Given the description of an element on the screen output the (x, y) to click on. 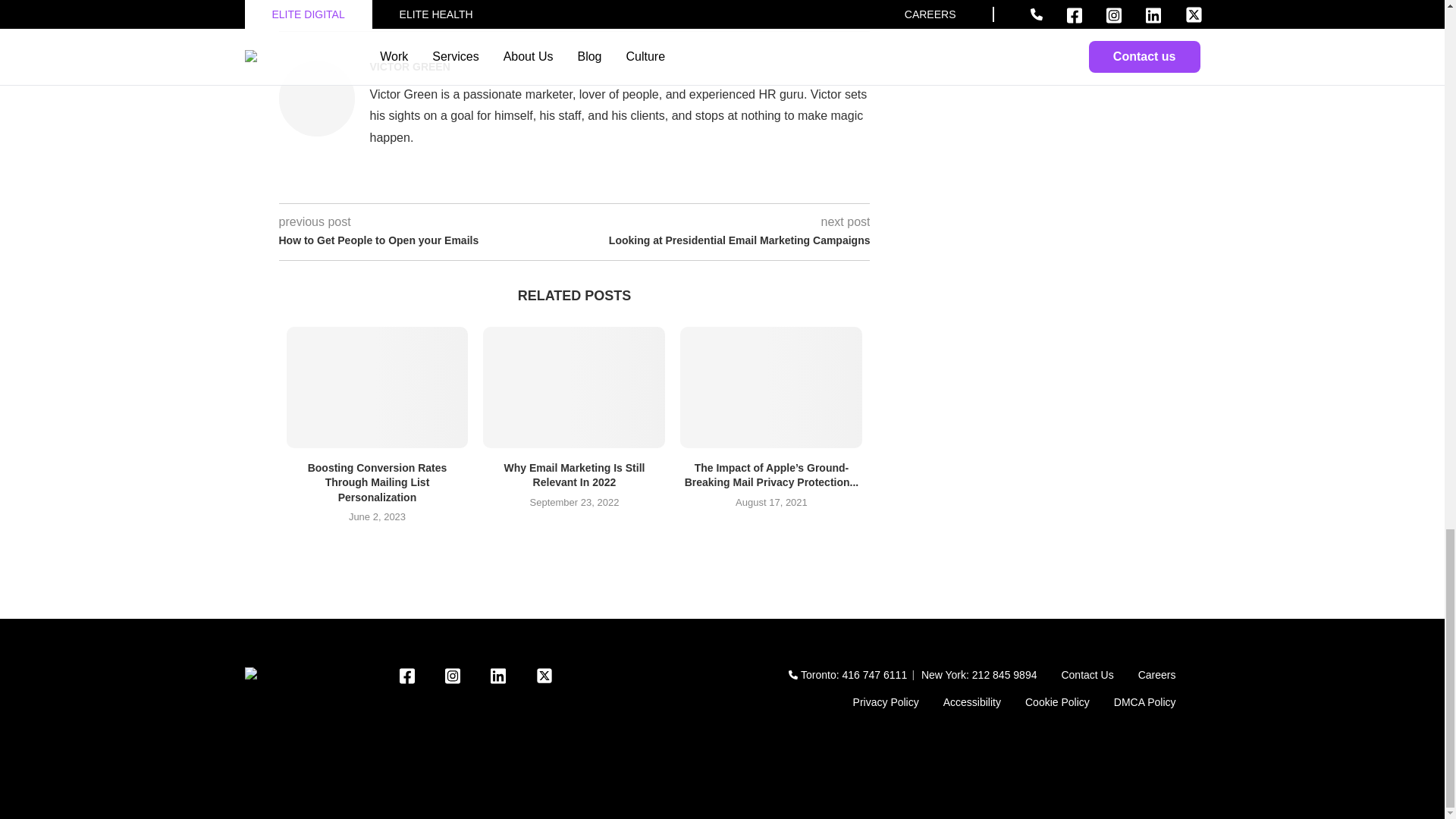
Author Victor Green (409, 66)
Why Email Marketing Is Still Relevant In 2022 (574, 386)
